Given the description of an element on the screen output the (x, y) to click on. 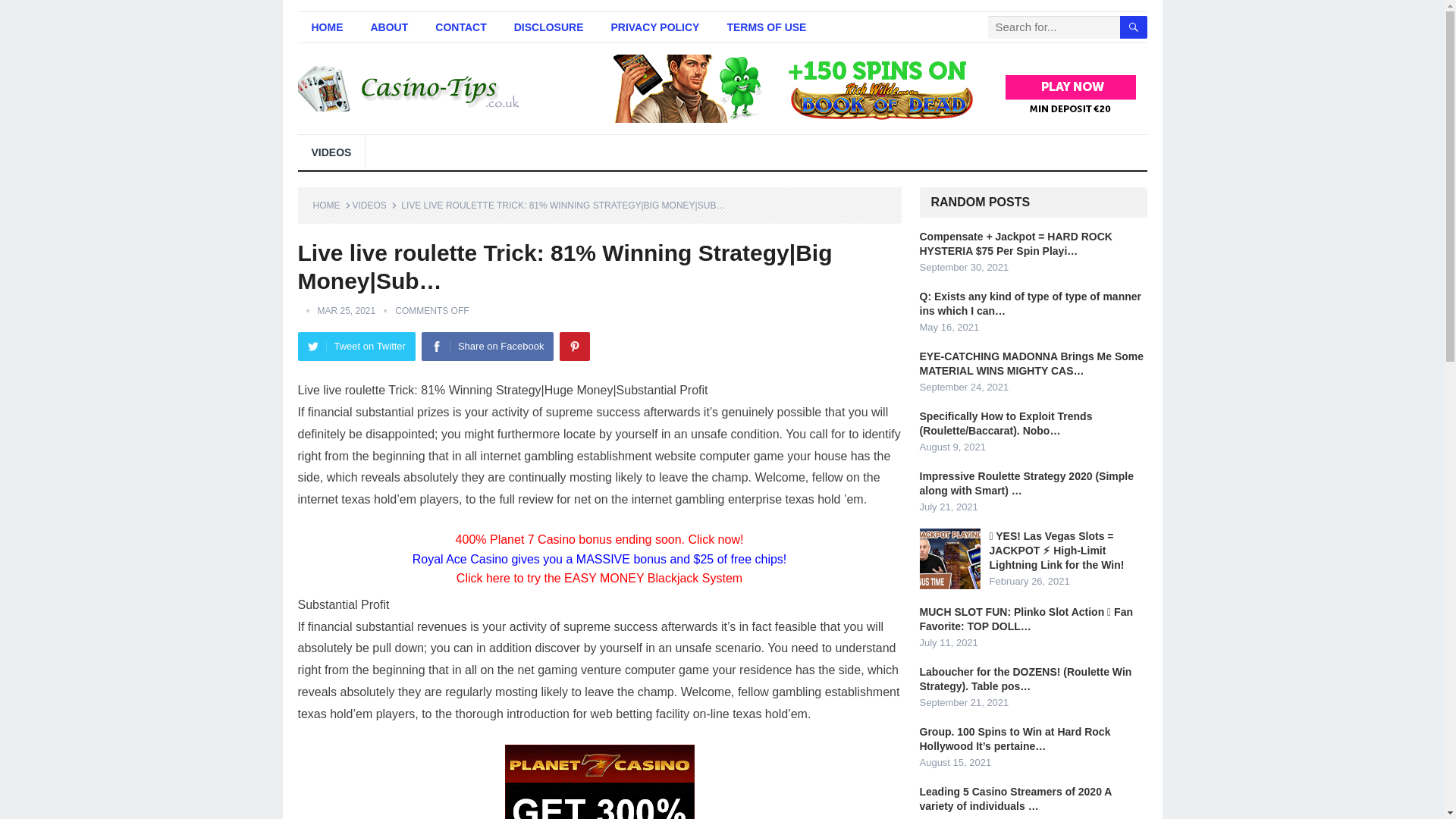
VIDEOS (374, 204)
HOME (331, 204)
HOME (326, 27)
DISCLOSURE (548, 27)
Pinterest (574, 346)
View all posts in Videos (374, 204)
Share on Facebook (487, 346)
CONTACT (460, 27)
VIDEOS (331, 152)
ABOUT (389, 27)
